Given the description of an element on the screen output the (x, y) to click on. 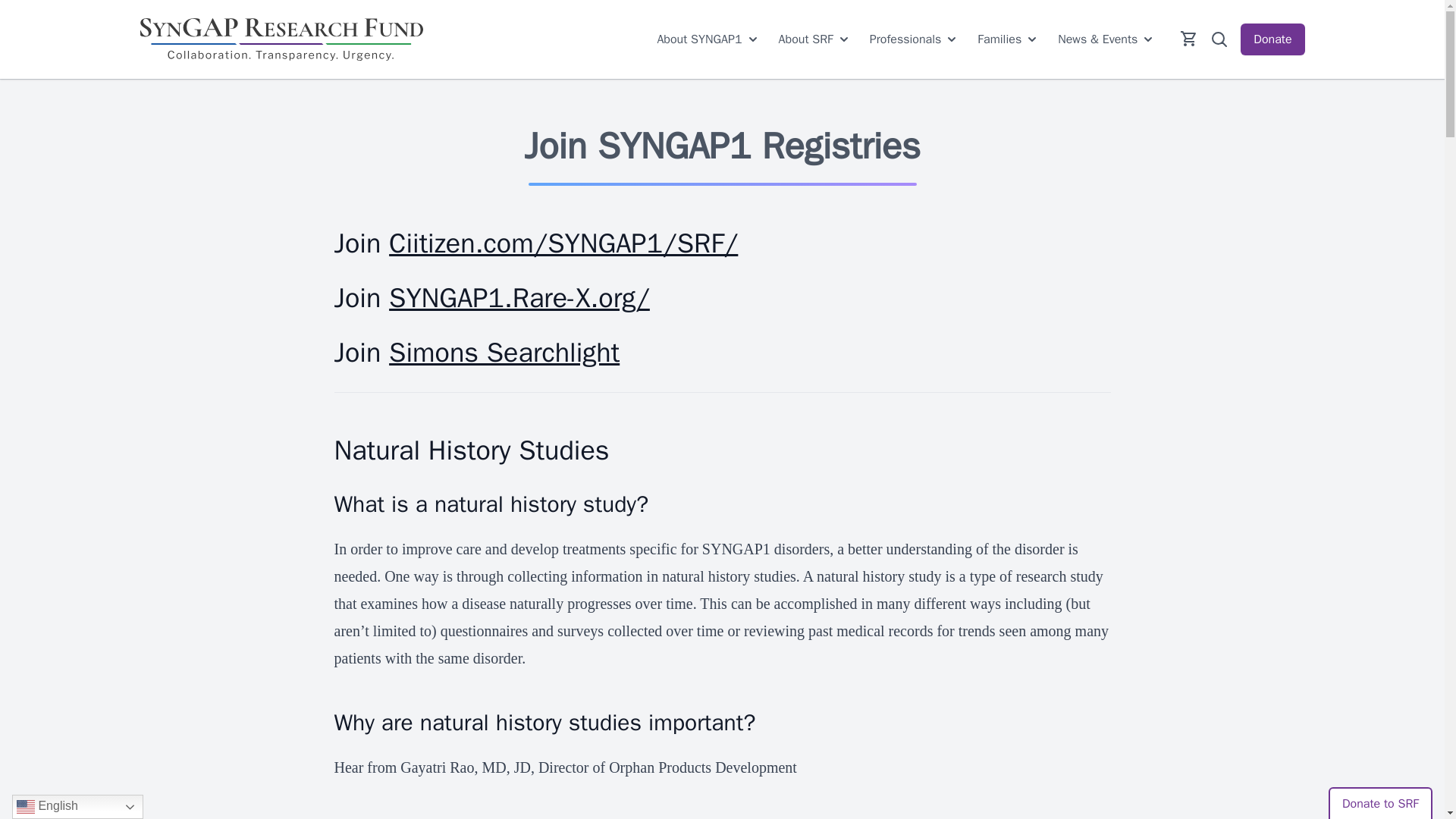
SynGap Research Fund (280, 39)
View your shopping cart (1188, 38)
